Given the description of an element on the screen output the (x, y) to click on. 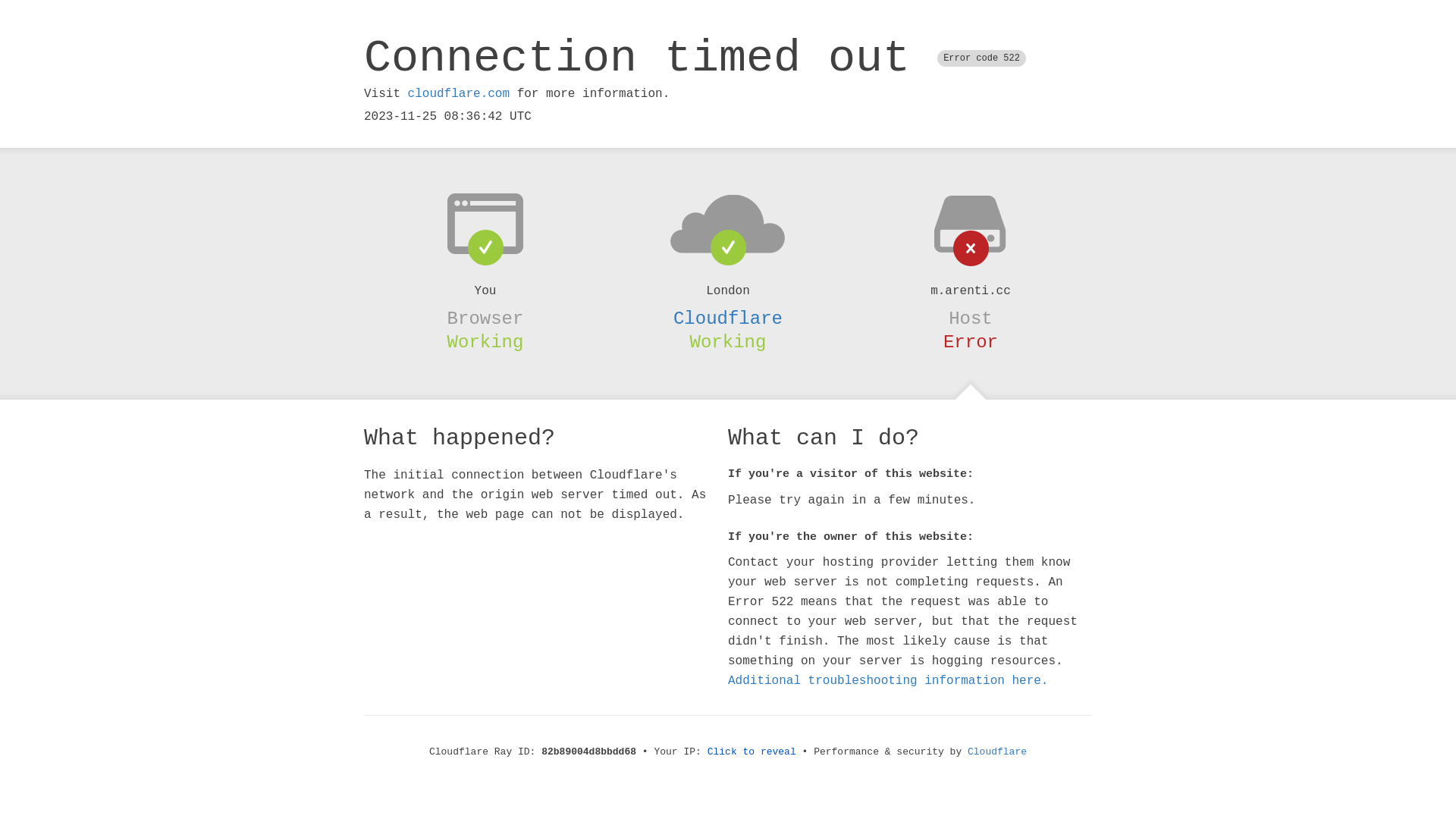
Cloudflare Element type: text (727, 318)
Click to reveal Element type: text (751, 751)
cloudflare.com Element type: text (458, 93)
Cloudflare Element type: text (996, 751)
Additional troubleshooting information here. Element type: text (888, 680)
